Given the description of an element on the screen output the (x, y) to click on. 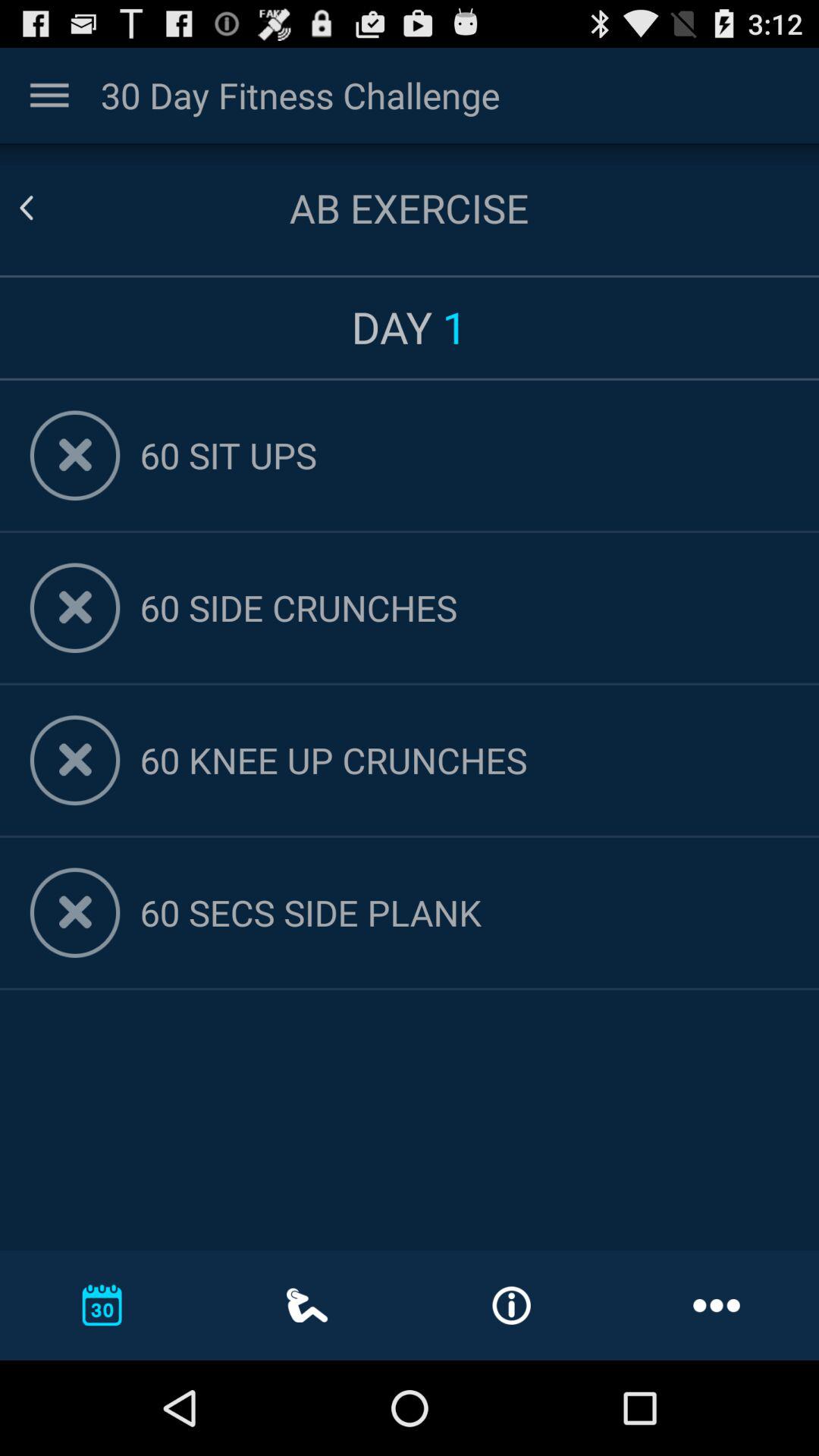
tap item above the 60 side crunches icon (463, 455)
